Given the description of an element on the screen output the (x, y) to click on. 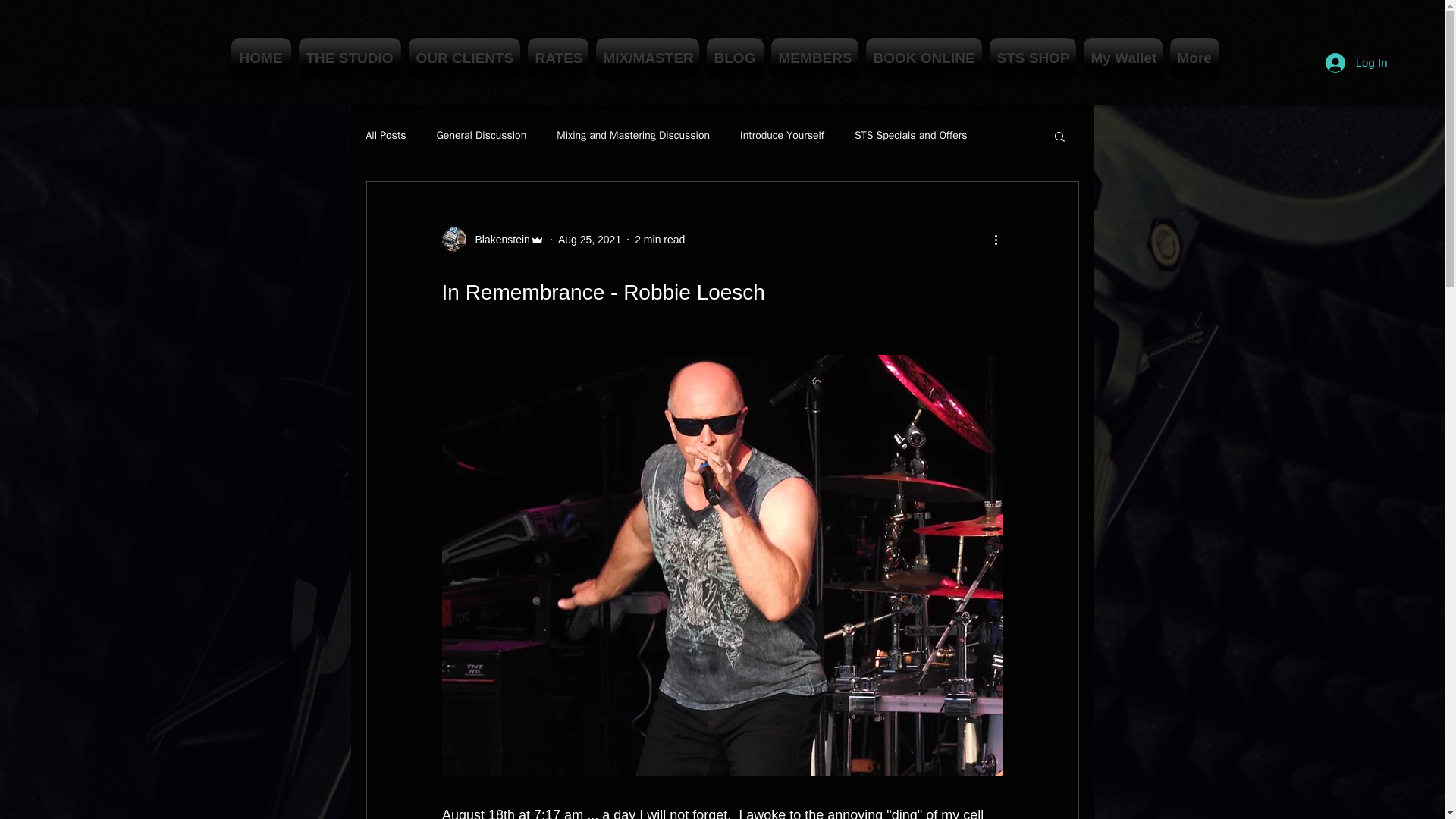
All Posts (385, 135)
Introduce Yourself (781, 135)
OUR CLIENTS (464, 57)
Mixing and Mastering Discussion (633, 135)
My Wallet (1123, 57)
Log In (1355, 62)
Blakenstein (497, 239)
General Discussion (481, 135)
RATES (556, 57)
BOOK ONLINE (923, 57)
